Given the description of an element on the screen output the (x, y) to click on. 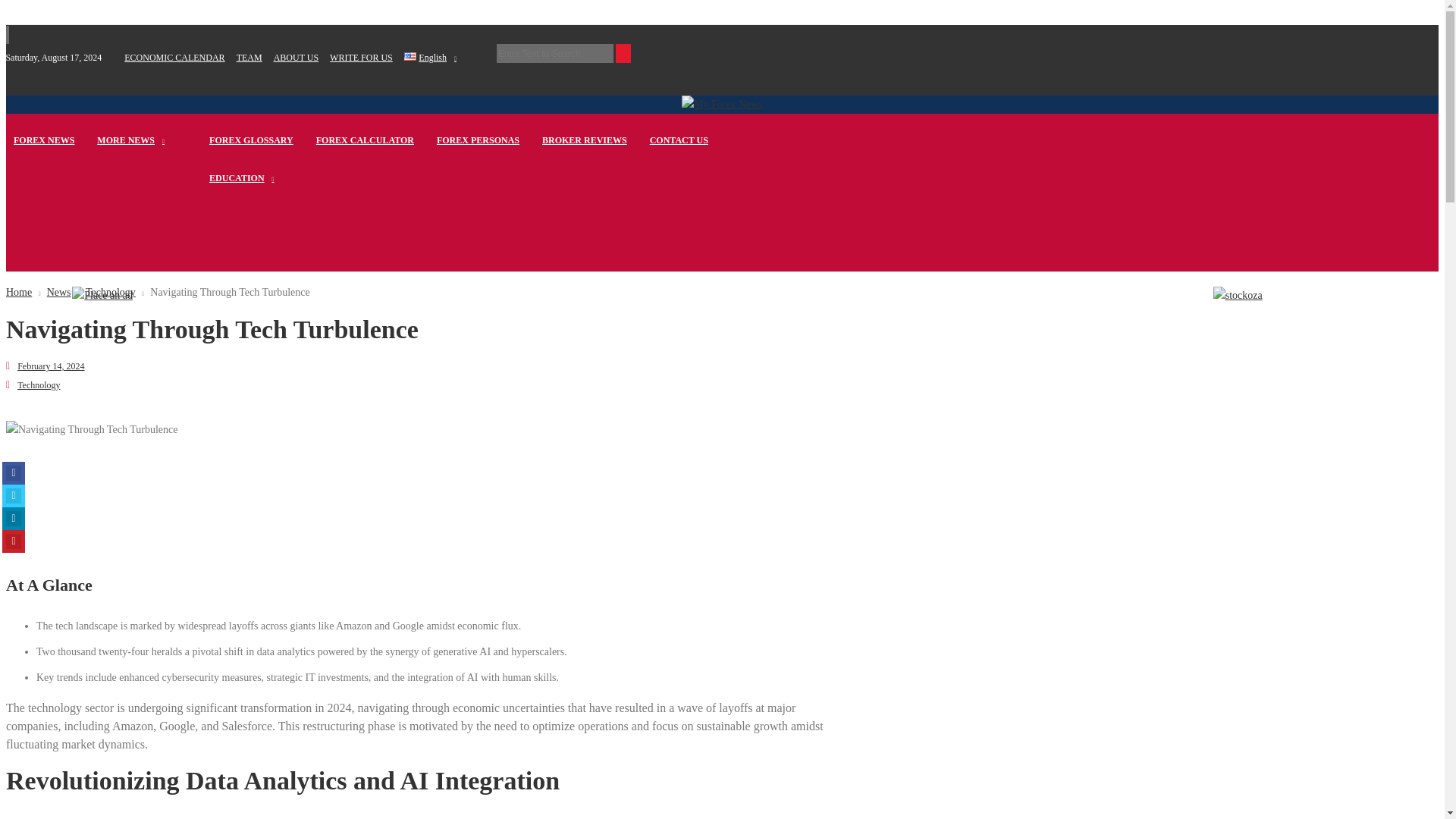
TEAM (248, 57)
MORE NEWS (130, 140)
Submit (730, 427)
Click to send this page to Twitter! (13, 495)
WRITE FOR US (361, 57)
FOREX CALCULATOR (364, 139)
February 14, 2024 (50, 366)
ABOUT US (295, 57)
CONTACT US (678, 139)
News (52, 293)
